Given the description of an element on the screen output the (x, y) to click on. 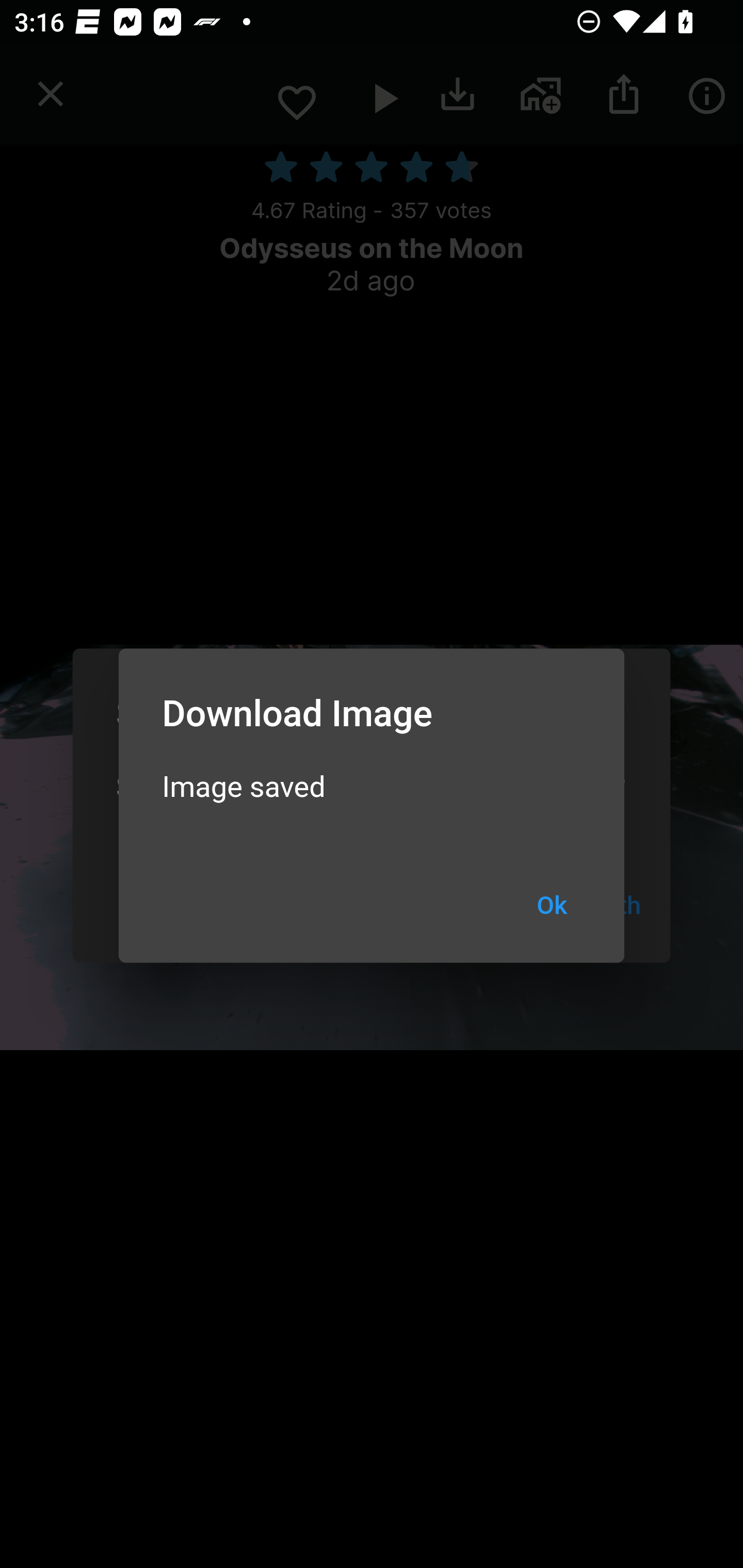
Ok (552, 905)
